Given the description of an element on the screen output the (x, y) to click on. 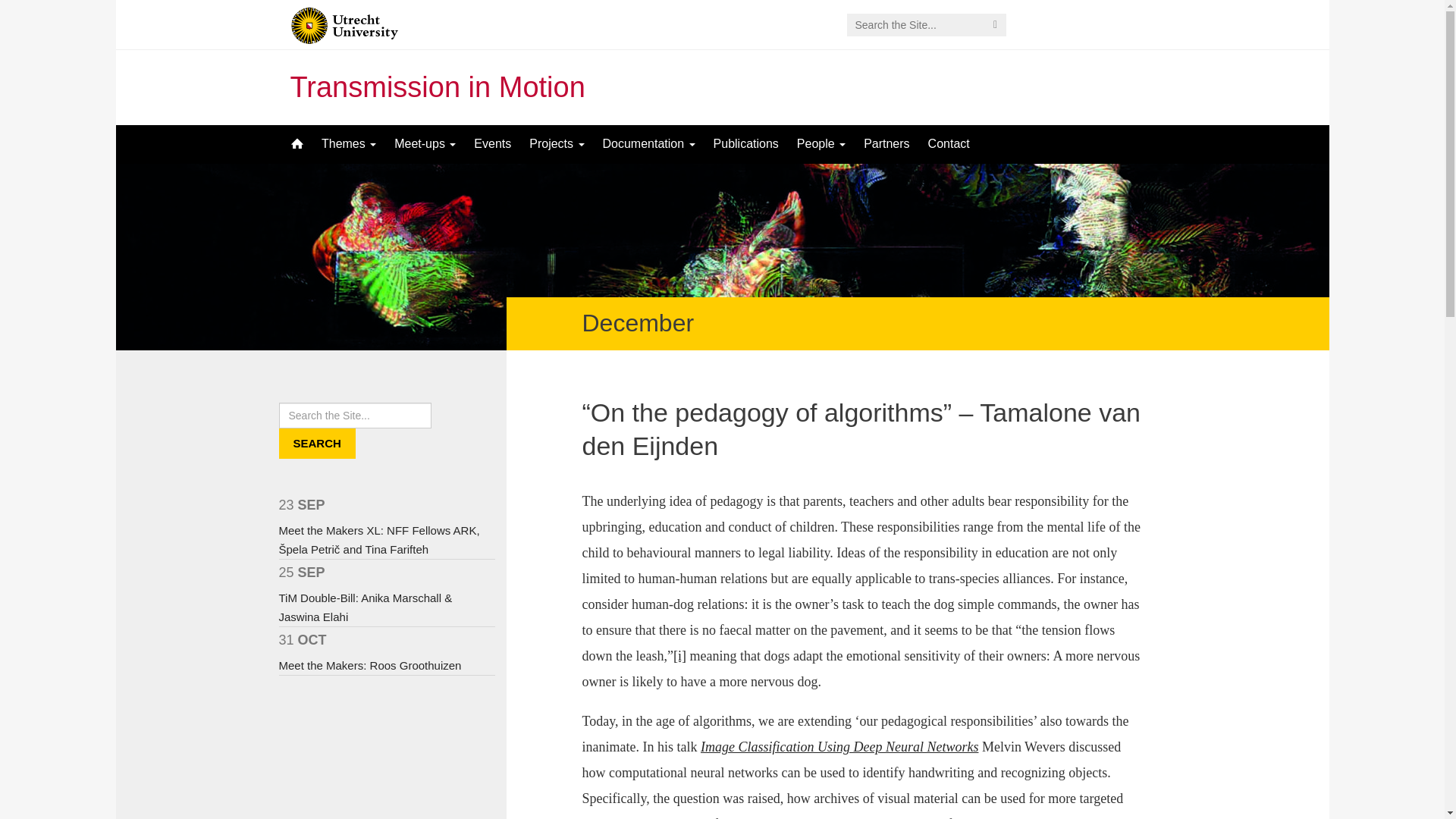
Transmission in Motion (437, 87)
Events (491, 143)
Documentation (649, 143)
Themes (349, 143)
Themes (349, 143)
Projects (555, 143)
Search (317, 443)
Meet-ups (424, 143)
Transmission in Motion (437, 87)
